Given the description of an element on the screen output the (x, y) to click on. 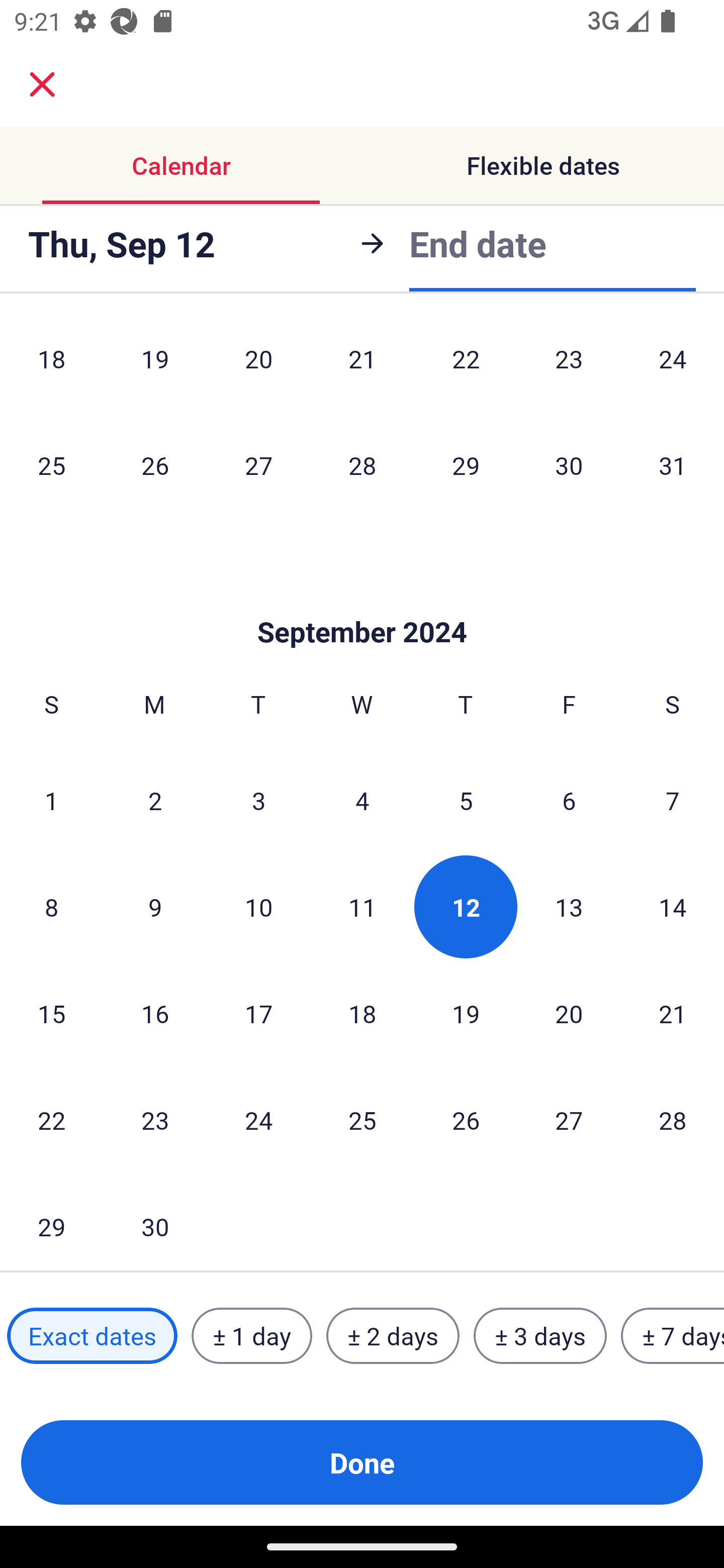
close. (42, 84)
Flexible dates (542, 164)
End date (477, 243)
18 Sunday, August 18, 2024 (51, 365)
19 Monday, August 19, 2024 (155, 365)
20 Tuesday, August 20, 2024 (258, 365)
21 Wednesday, August 21, 2024 (362, 365)
22 Thursday, August 22, 2024 (465, 365)
23 Friday, August 23, 2024 (569, 365)
24 Saturday, August 24, 2024 (672, 365)
25 Sunday, August 25, 2024 (51, 464)
26 Monday, August 26, 2024 (155, 464)
27 Tuesday, August 27, 2024 (258, 464)
28 Wednesday, August 28, 2024 (362, 464)
29 Thursday, August 29, 2024 (465, 464)
30 Friday, August 30, 2024 (569, 464)
31 Saturday, August 31, 2024 (672, 464)
Skip to Done (362, 601)
1 Sunday, September 1, 2024 (51, 800)
2 Monday, September 2, 2024 (155, 800)
3 Tuesday, September 3, 2024 (258, 800)
4 Wednesday, September 4, 2024 (362, 800)
5 Thursday, September 5, 2024 (465, 800)
6 Friday, September 6, 2024 (569, 800)
7 Saturday, September 7, 2024 (672, 800)
8 Sunday, September 8, 2024 (51, 907)
9 Monday, September 9, 2024 (155, 907)
10 Tuesday, September 10, 2024 (258, 907)
11 Wednesday, September 11, 2024 (362, 907)
13 Friday, September 13, 2024 (569, 907)
14 Saturday, September 14, 2024 (672, 907)
15 Sunday, September 15, 2024 (51, 1012)
16 Monday, September 16, 2024 (155, 1012)
17 Tuesday, September 17, 2024 (258, 1012)
18 Wednesday, September 18, 2024 (362, 1012)
19 Thursday, September 19, 2024 (465, 1012)
20 Friday, September 20, 2024 (569, 1012)
21 Saturday, September 21, 2024 (672, 1012)
22 Sunday, September 22, 2024 (51, 1119)
23 Monday, September 23, 2024 (155, 1119)
24 Tuesday, September 24, 2024 (258, 1119)
25 Wednesday, September 25, 2024 (362, 1119)
26 Thursday, September 26, 2024 (465, 1119)
27 Friday, September 27, 2024 (569, 1119)
28 Saturday, September 28, 2024 (672, 1119)
29 Sunday, September 29, 2024 (51, 1222)
30 Monday, September 30, 2024 (155, 1222)
Exact dates (92, 1335)
± 1 day (251, 1335)
± 2 days (392, 1335)
± 3 days (539, 1335)
± 7 days (672, 1335)
Done (361, 1462)
